Given the description of an element on the screen output the (x, y) to click on. 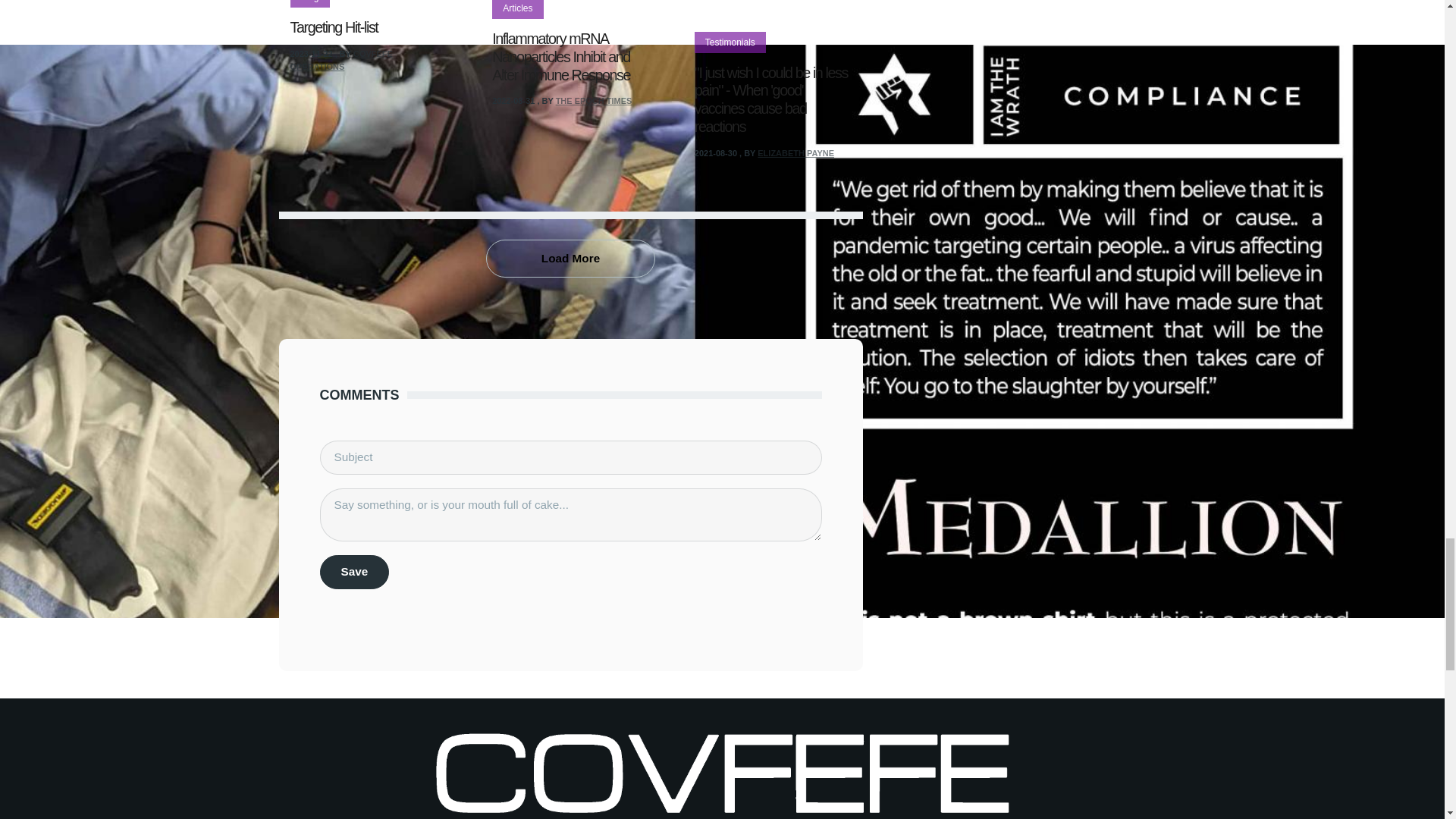
Save (355, 571)
